Given the description of an element on the screen output the (x, y) to click on. 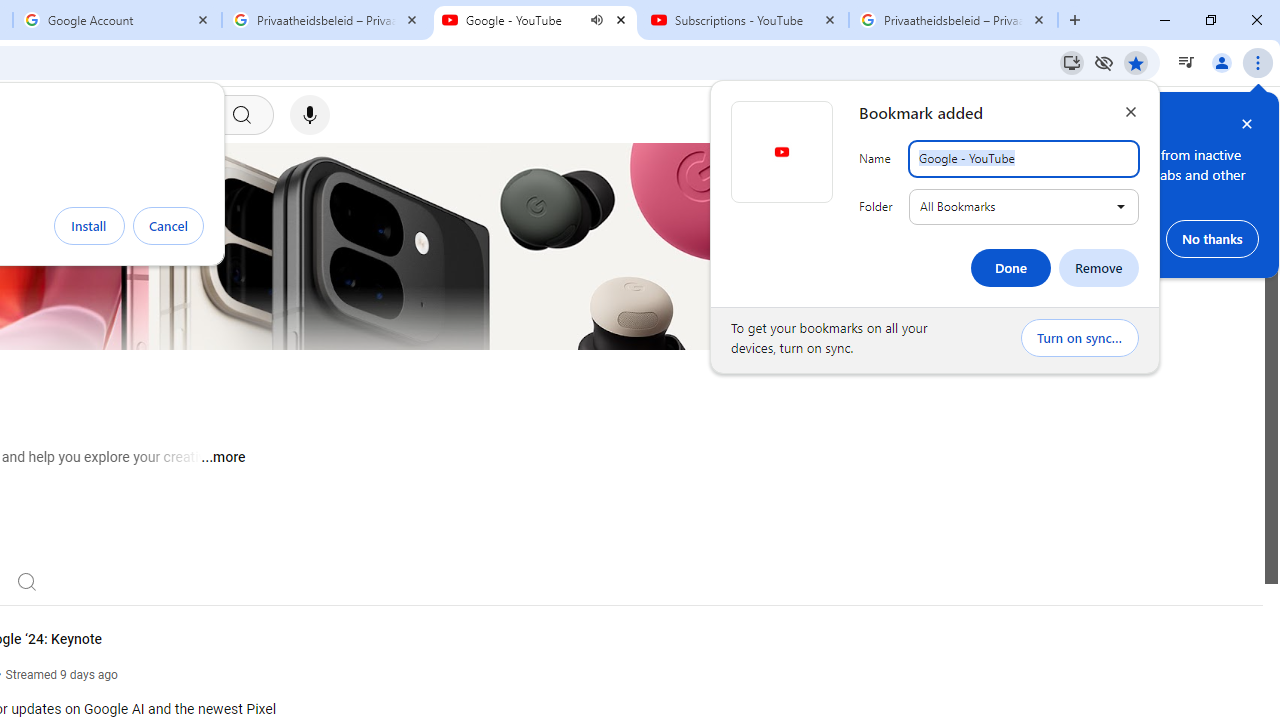
Google Account (116, 20)
Search with your voice (309, 115)
Folder (1023, 206)
Subscriptions - YouTube (744, 20)
Google - YouTube - Audio playing (535, 20)
Install YouTube (1071, 62)
